Given the description of an element on the screen output the (x, y) to click on. 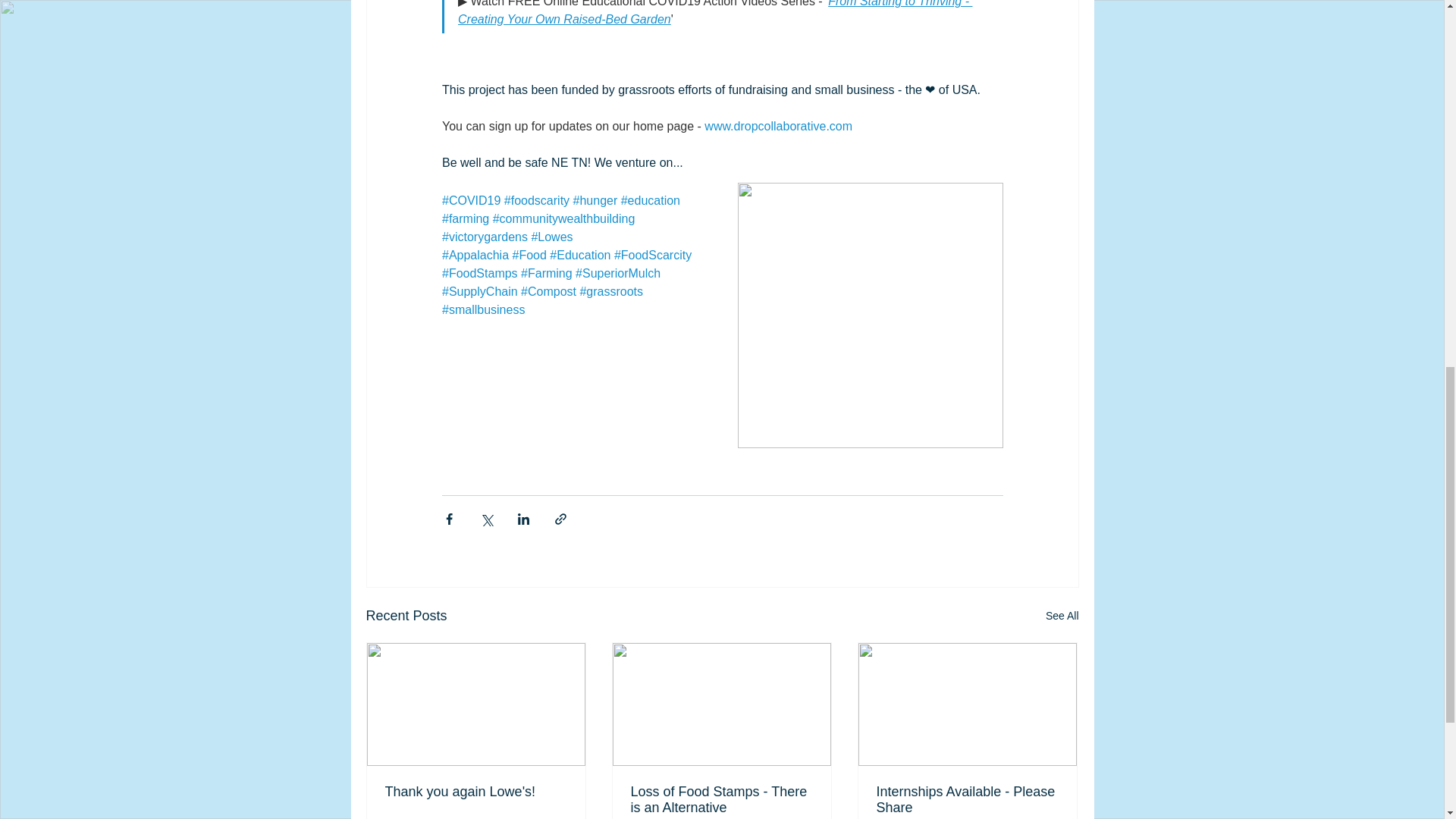
www.dropcollaborative.com (777, 125)
